Given the description of an element on the screen output the (x, y) to click on. 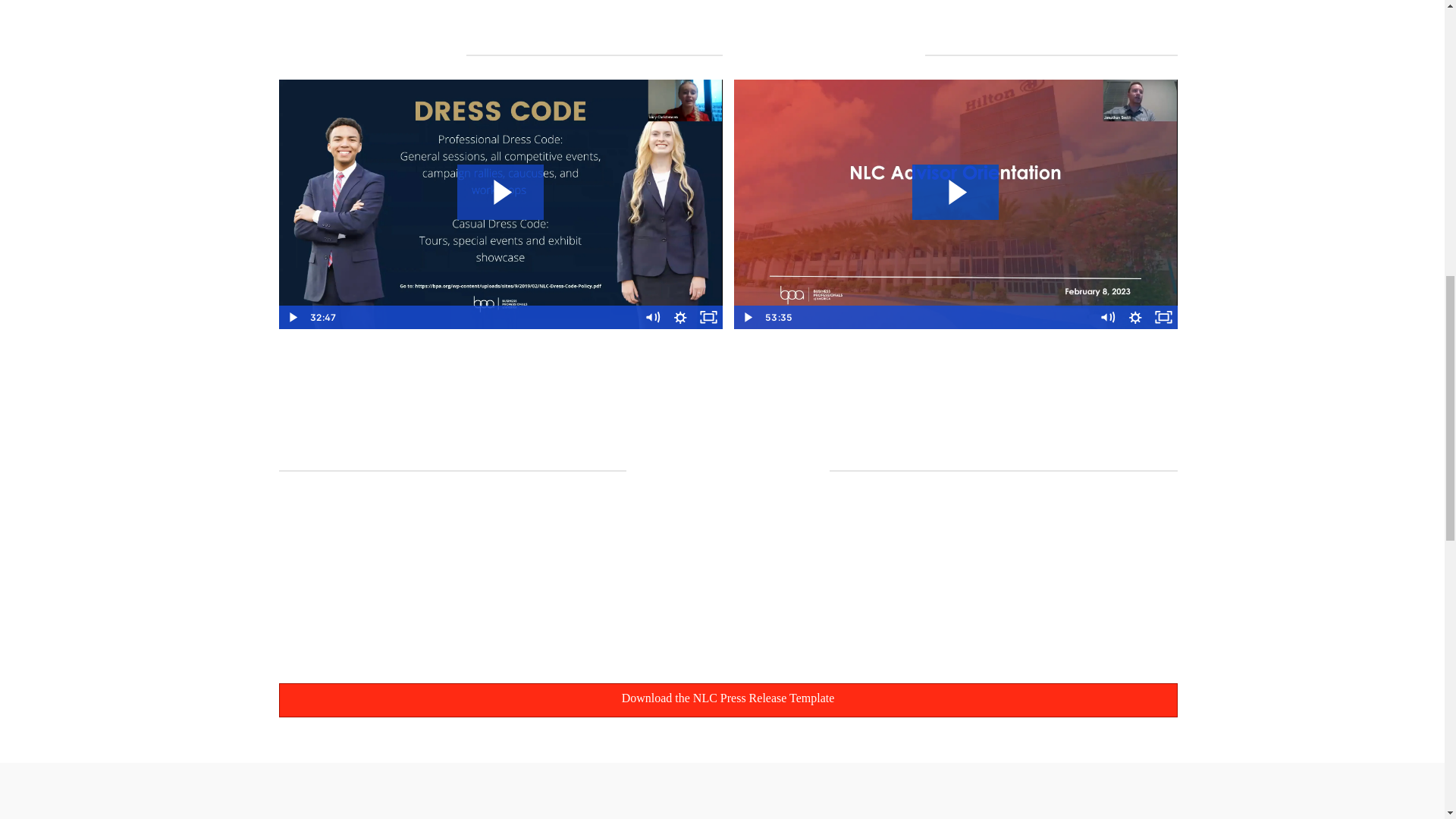
Download the NLC Press Release Template (728, 700)
Show settings menu (680, 317)
Show settings menu (1135, 317)
Download the NLC Press Release Template (728, 700)
